Given the description of an element on the screen output the (x, y) to click on. 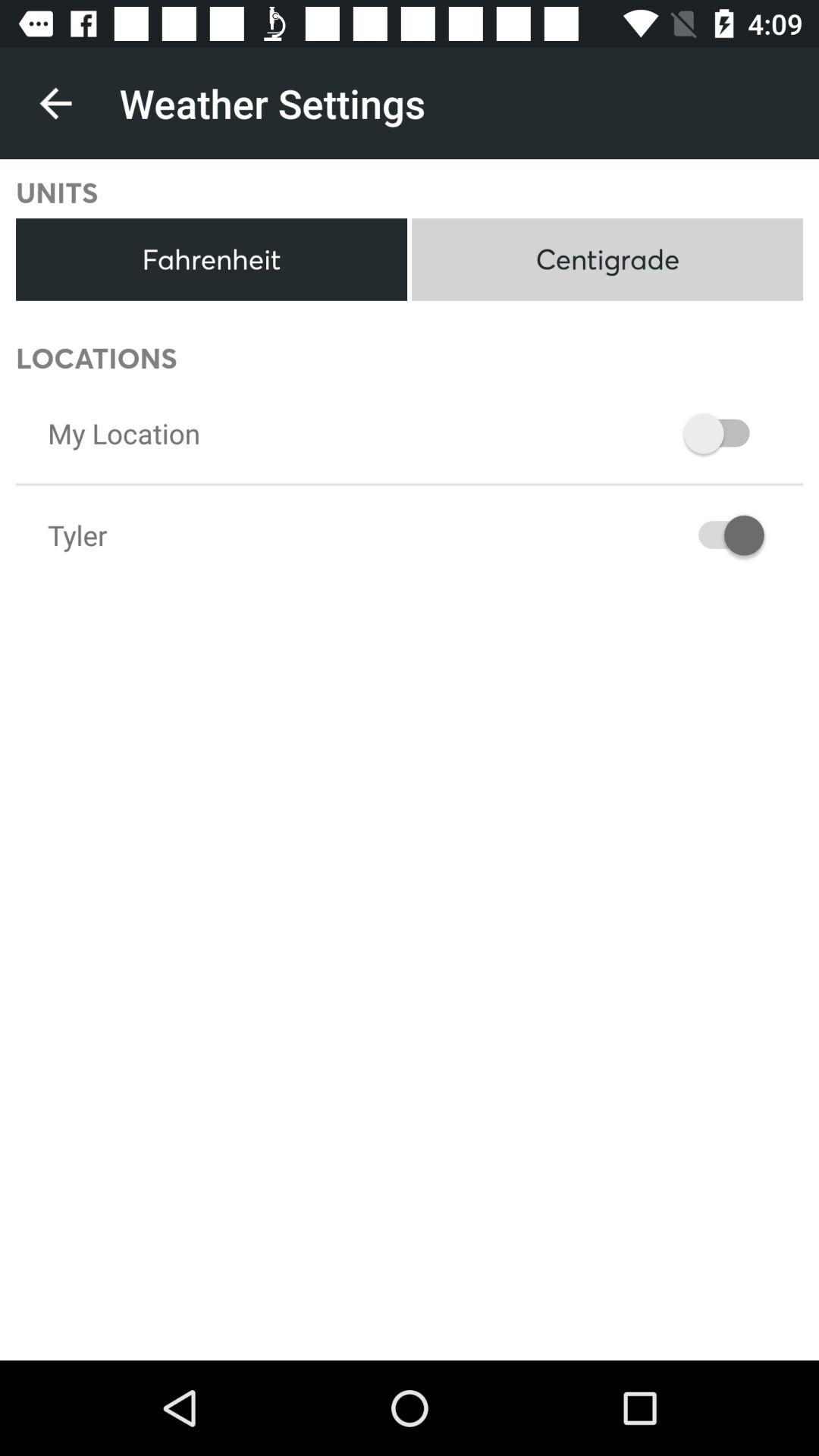
turn off the icon next to weather settings icon (55, 103)
